Given the description of an element on the screen output the (x, y) to click on. 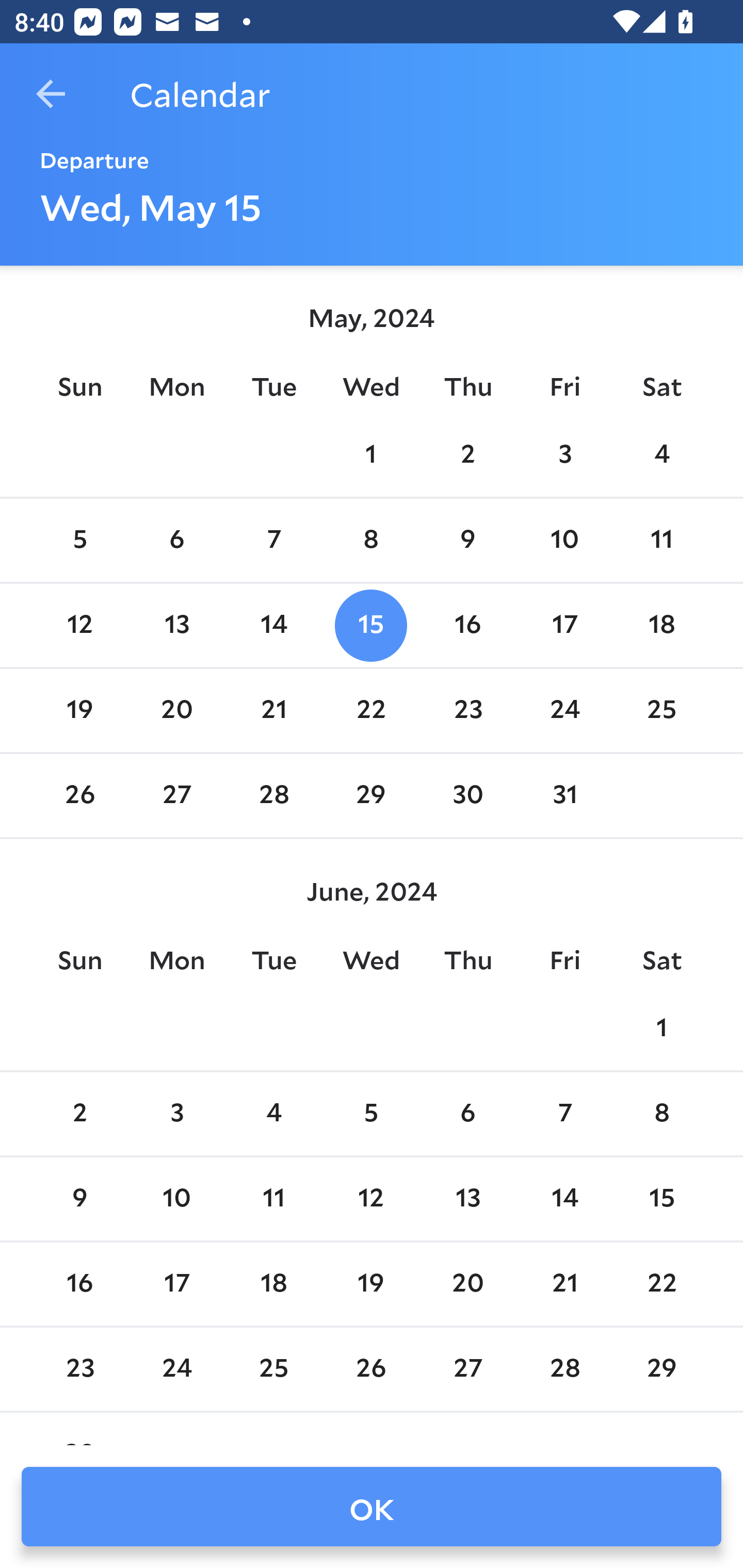
Navigate up (50, 93)
1 (371, 454)
2 (467, 454)
3 (565, 454)
4 (661, 454)
5 (79, 540)
6 (177, 540)
7 (273, 540)
8 (371, 540)
9 (467, 540)
10 (565, 540)
11 (661, 540)
12 (79, 625)
13 (177, 625)
14 (273, 625)
15 (371, 625)
16 (467, 625)
17 (565, 625)
18 (661, 625)
19 (79, 710)
20 (177, 710)
21 (273, 710)
22 (371, 710)
23 (467, 710)
24 (565, 710)
25 (661, 710)
26 (79, 796)
27 (177, 796)
28 (273, 796)
29 (371, 796)
30 (467, 796)
31 (565, 796)
1 (661, 1028)
2 (79, 1114)
3 (177, 1114)
4 (273, 1114)
5 (371, 1114)
6 (467, 1114)
7 (565, 1114)
8 (661, 1114)
9 (79, 1199)
10 (177, 1199)
11 (273, 1199)
12 (371, 1199)
13 (467, 1199)
14 (565, 1199)
15 (661, 1199)
16 (79, 1284)
17 (177, 1284)
18 (273, 1284)
19 (371, 1284)
20 (467, 1284)
21 (565, 1284)
22 (661, 1284)
23 (79, 1368)
24 (177, 1368)
25 (273, 1368)
26 (371, 1368)
27 (467, 1368)
28 (565, 1368)
29 (661, 1368)
OK (371, 1506)
